Given the description of an element on the screen output the (x, y) to click on. 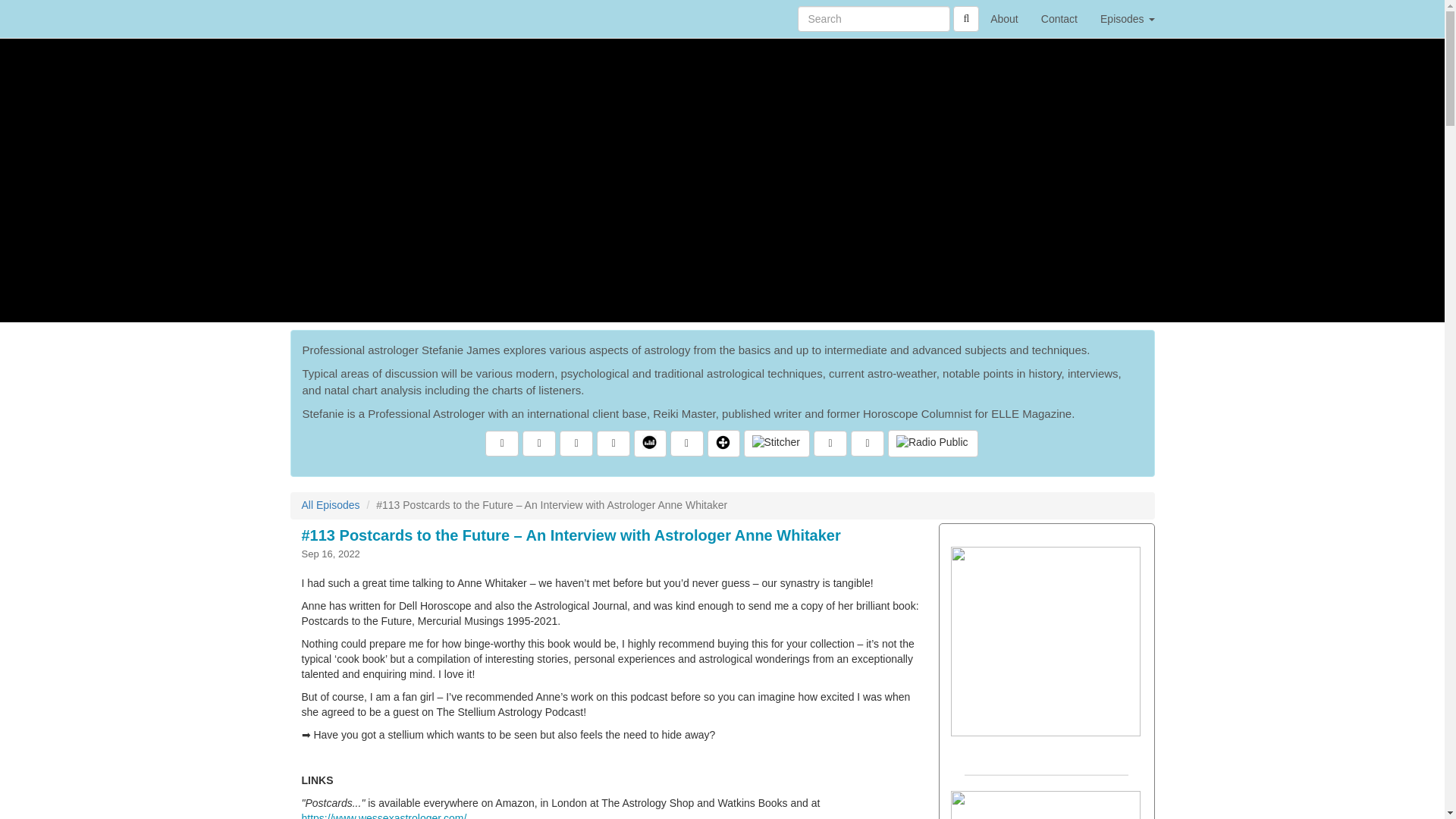
Visit Us on Facebook (501, 443)
Listen on Radio Public (933, 443)
Episodes (1127, 18)
Go To YouTube Channel (866, 443)
Listen on Apple Podcasts (686, 443)
Subscribe to RSS Feed (613, 443)
Listen on Stitcher (775, 443)
Listen on TuneIn (722, 443)
Visit Us on Twitter (539, 443)
View Our LinkedIn Page (575, 443)
